Given the description of an element on the screen output the (x, y) to click on. 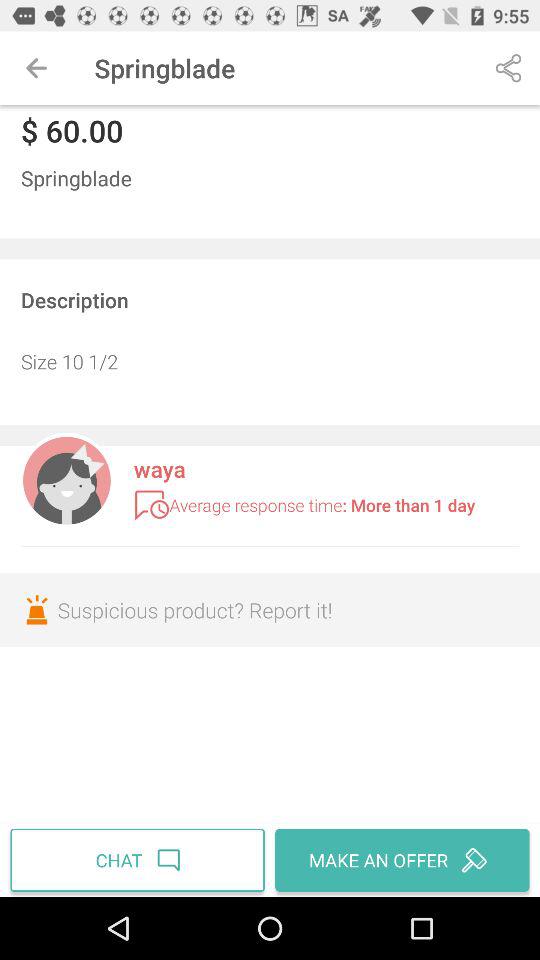
select item below the size 10 1 icon (66, 478)
